Given the description of an element on the screen output the (x, y) to click on. 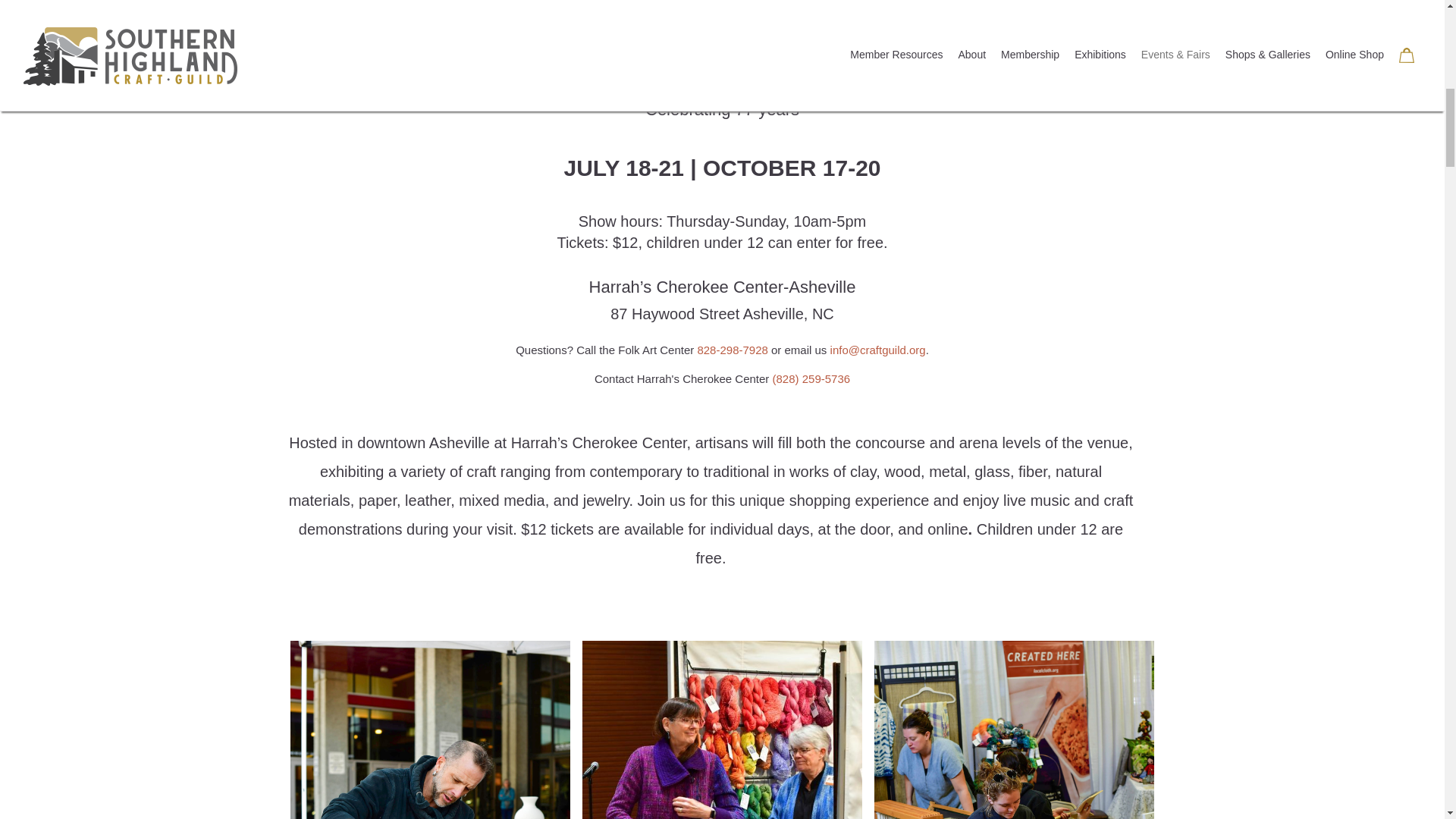
online (947, 528)
Liz Spear (722, 729)
Odyssey (429, 729)
Local Cloth (1013, 729)
828-298-7928 (732, 349)
